Given the description of an element on the screen output the (x, y) to click on. 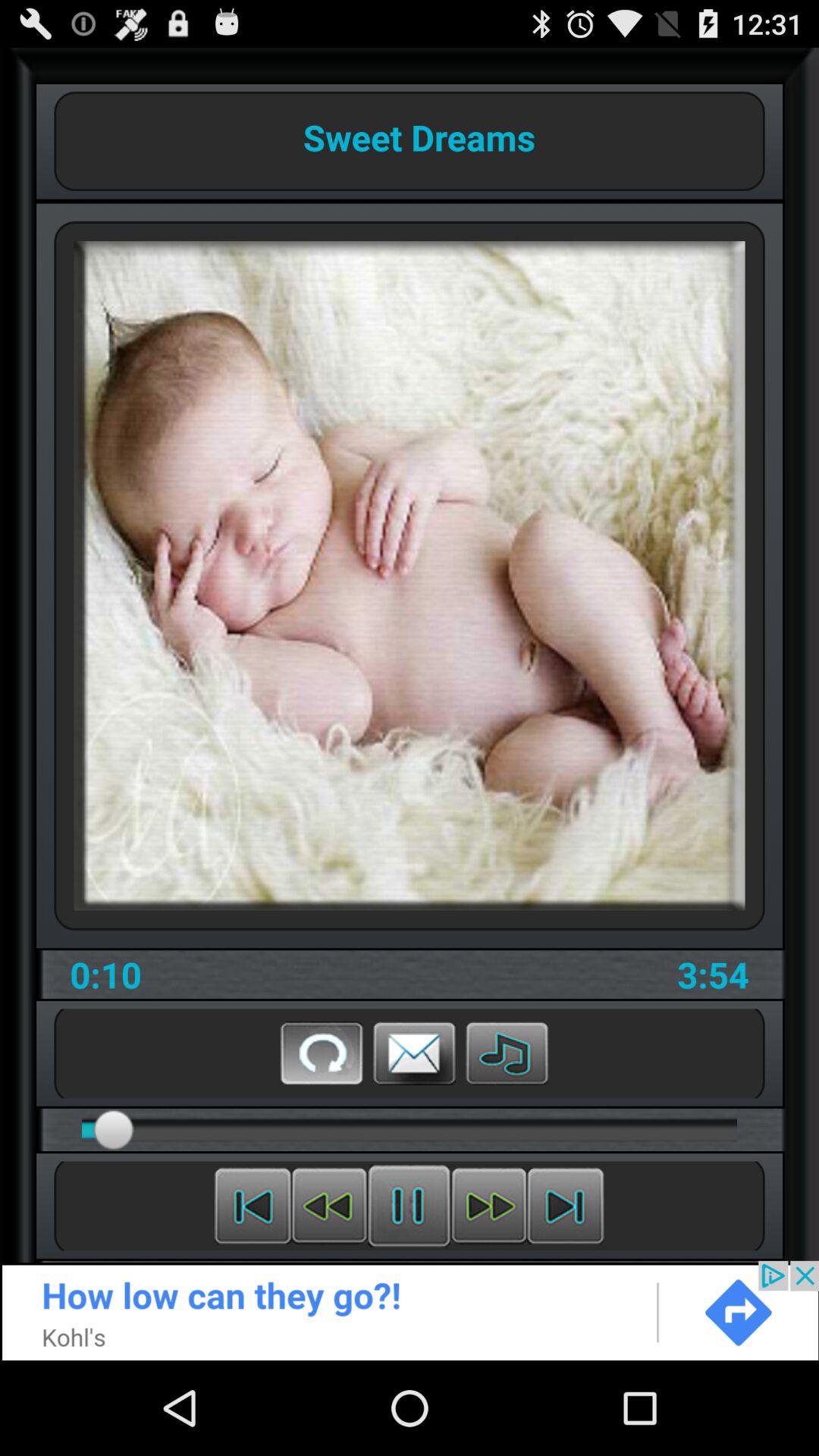
rotate option (321, 1053)
